Given the description of an element on the screen output the (x, y) to click on. 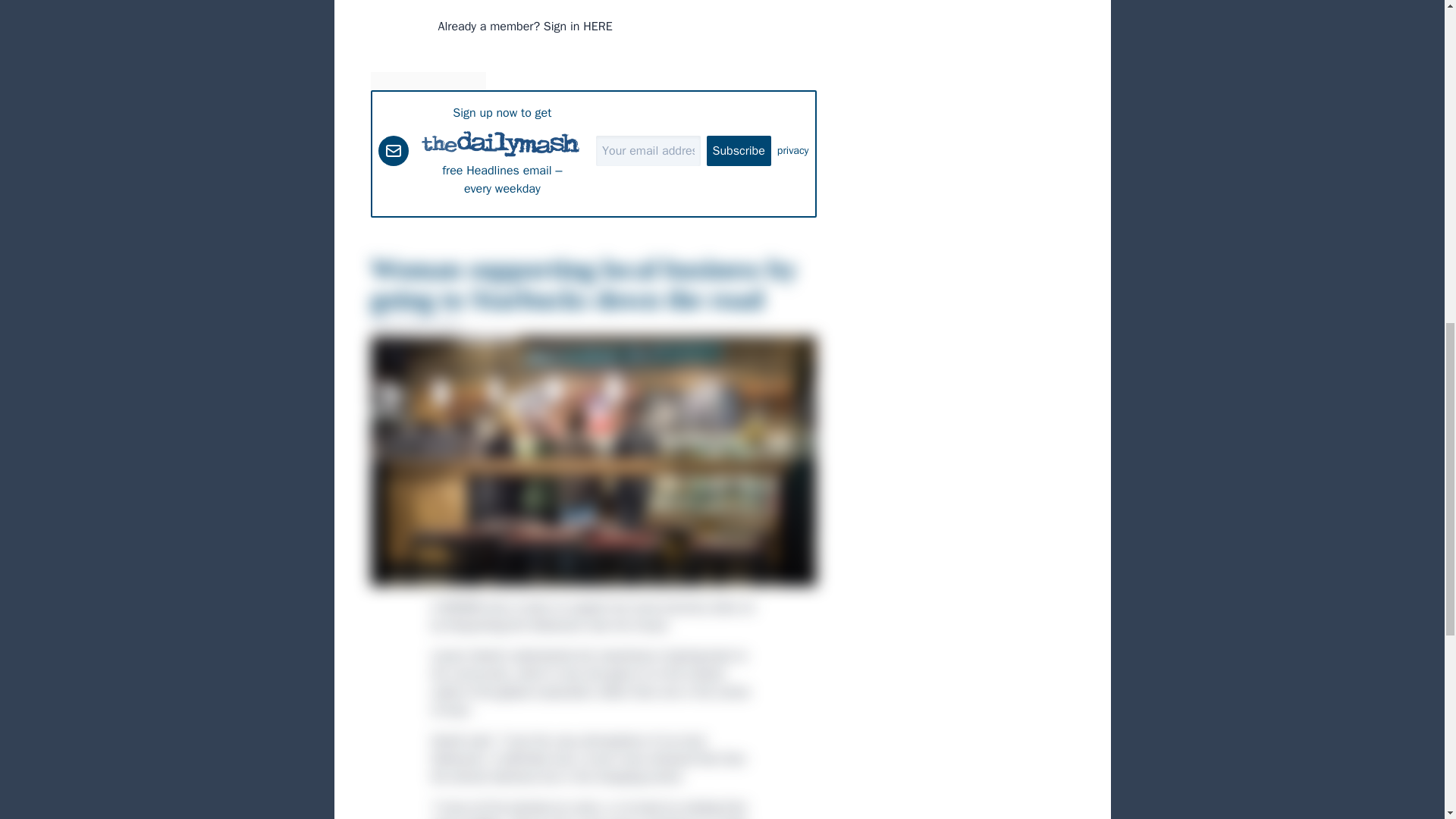
privacy (793, 150)
Subscribe (738, 150)
